Given the description of an element on the screen output the (x, y) to click on. 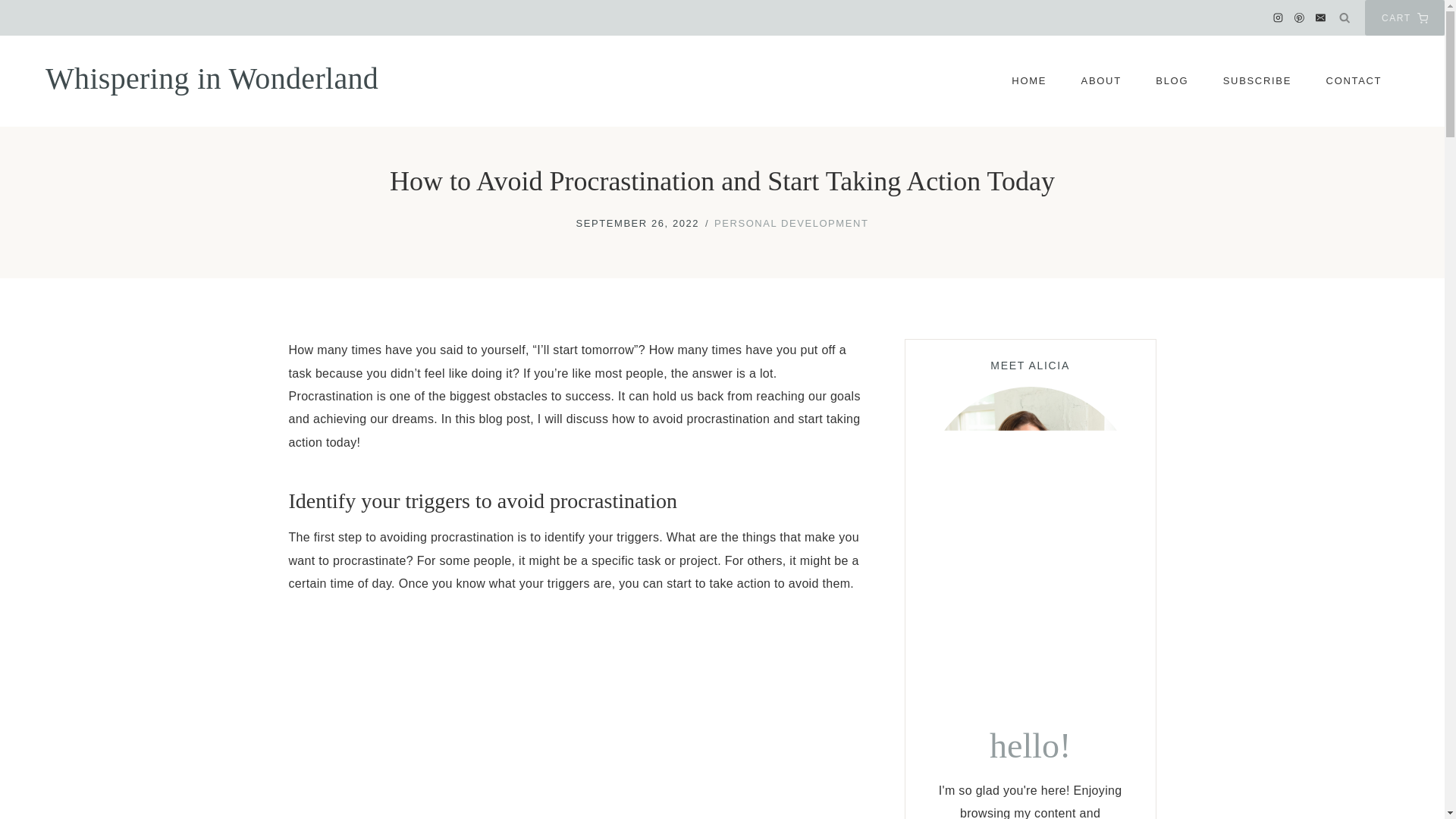
SUBSCRIBE (1256, 81)
ABOUT (1101, 81)
PERSONAL DEVELOPMENT (790, 223)
CONTACT (1353, 81)
Whispering in Wonderland (211, 78)
HOME (1029, 81)
BLOG (1171, 81)
